Given the description of an element on the screen output the (x, y) to click on. 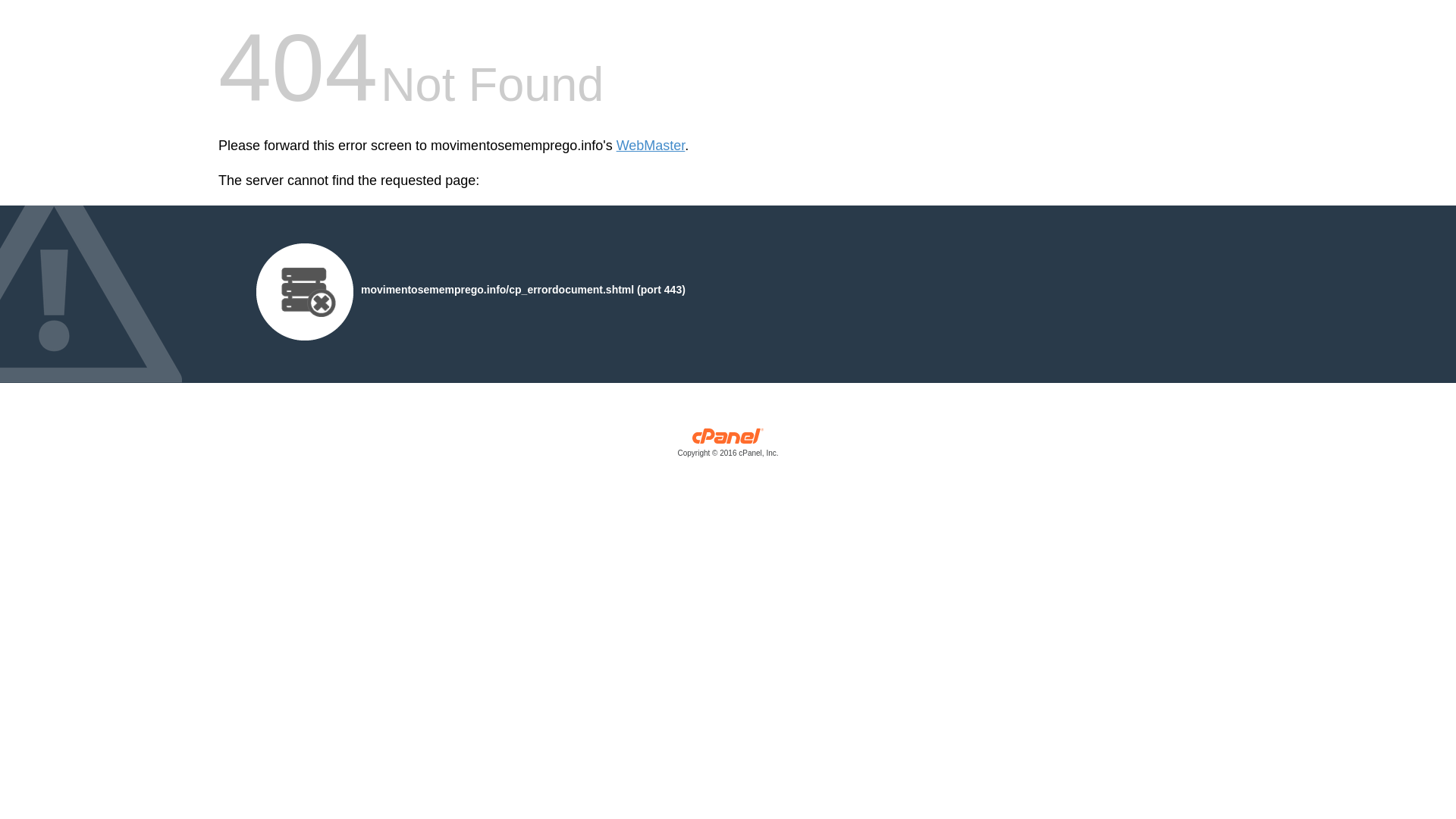
cPanel, Inc. (727, 446)
WebMaster (650, 145)
